Given the description of an element on the screen output the (x, y) to click on. 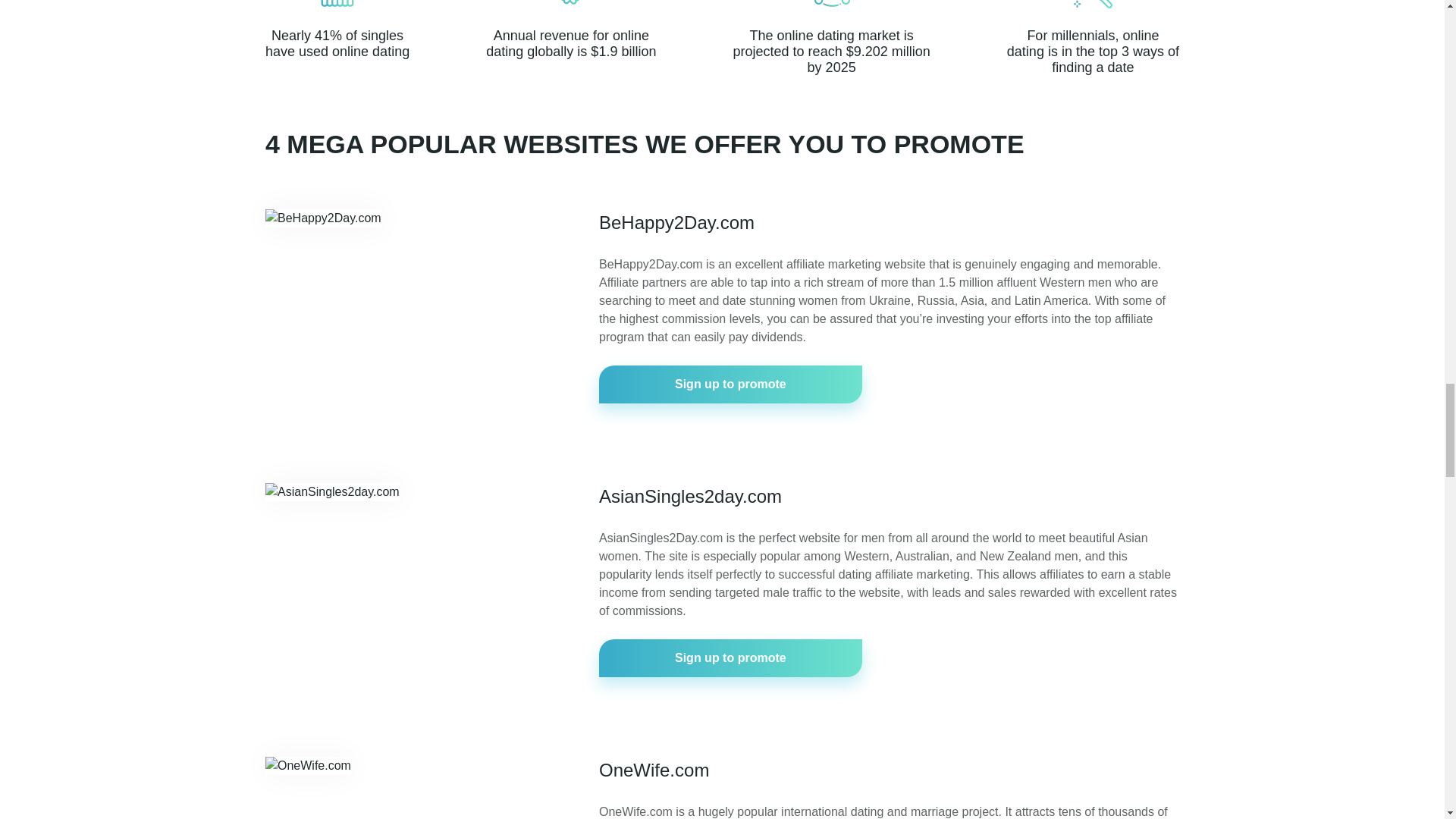
Sign up to promote (729, 658)
Sign up to promote (729, 384)
